Given the description of an element on the screen output the (x, y) to click on. 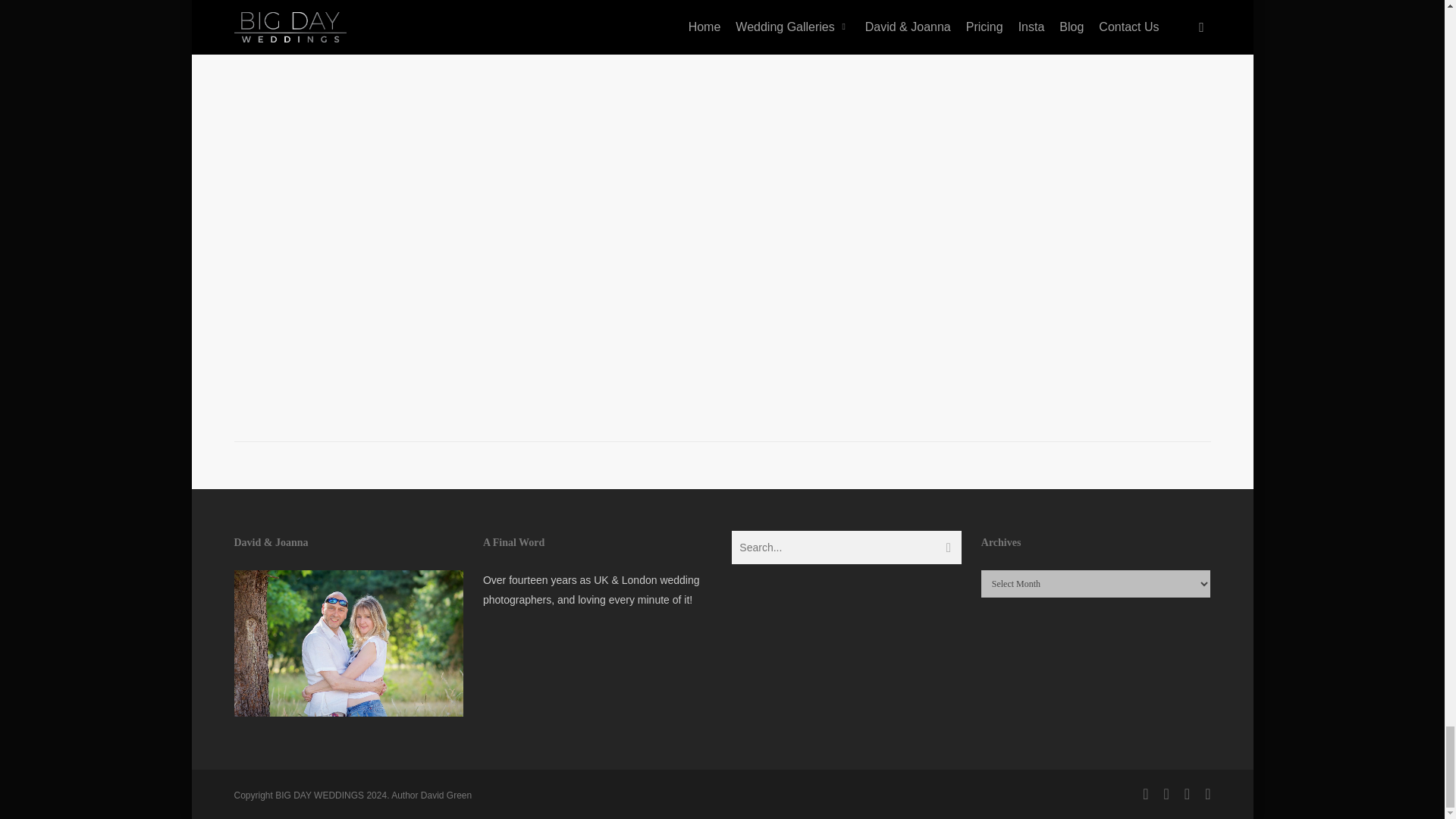
Search for: (846, 547)
